Given the description of an element on the screen output the (x, y) to click on. 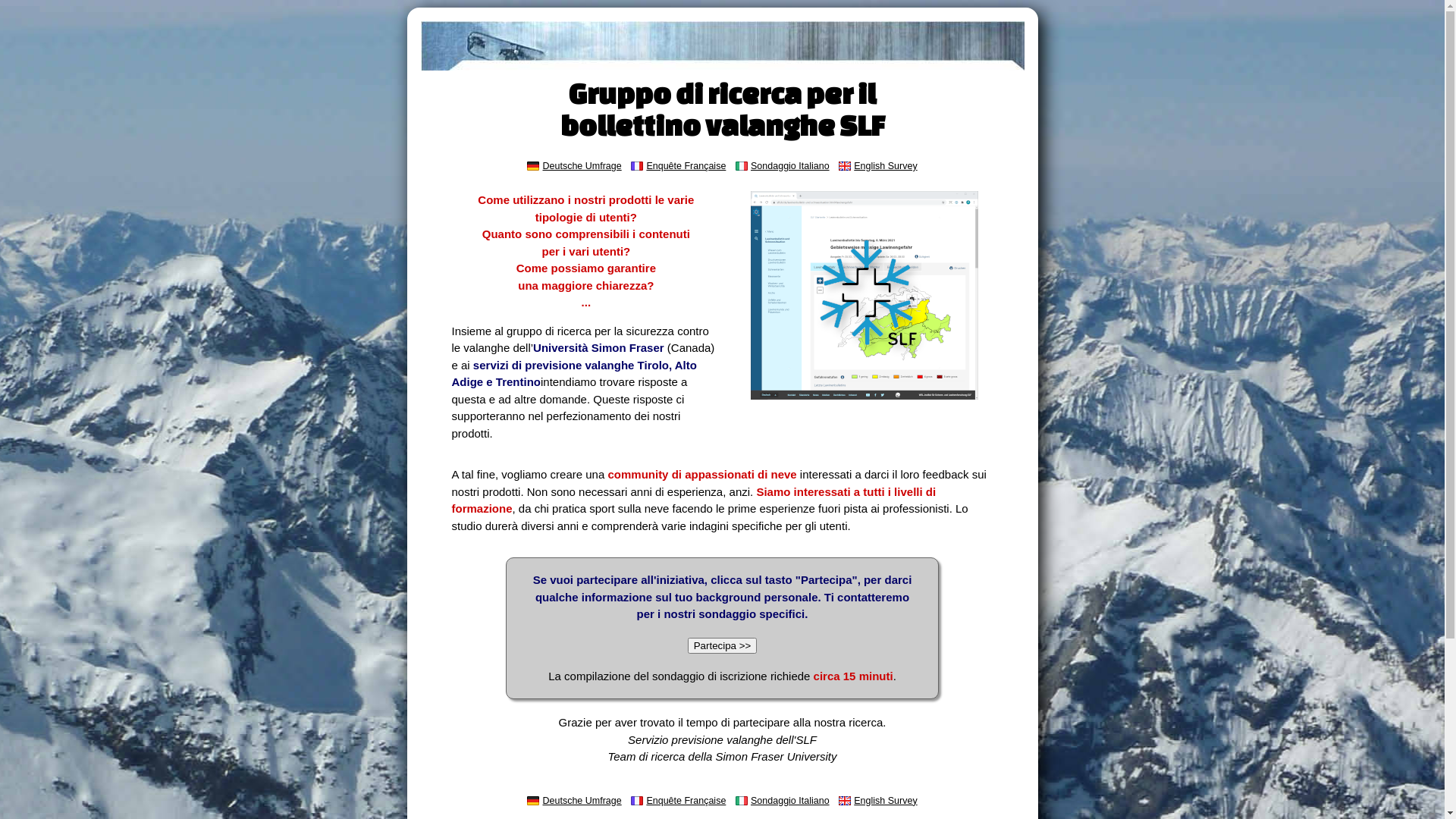
Partecipa >> Element type: text (722, 645)
Deutsche Umfrage Element type: text (581, 165)
English Survey Element type: text (884, 165)
English Survey Element type: text (884, 800)
Deutsche Umfrage Element type: text (581, 800)
Sondaggio Italiano Element type: text (789, 165)
Sondaggio Italiano Element type: text (789, 800)
